Given the description of an element on the screen output the (x, y) to click on. 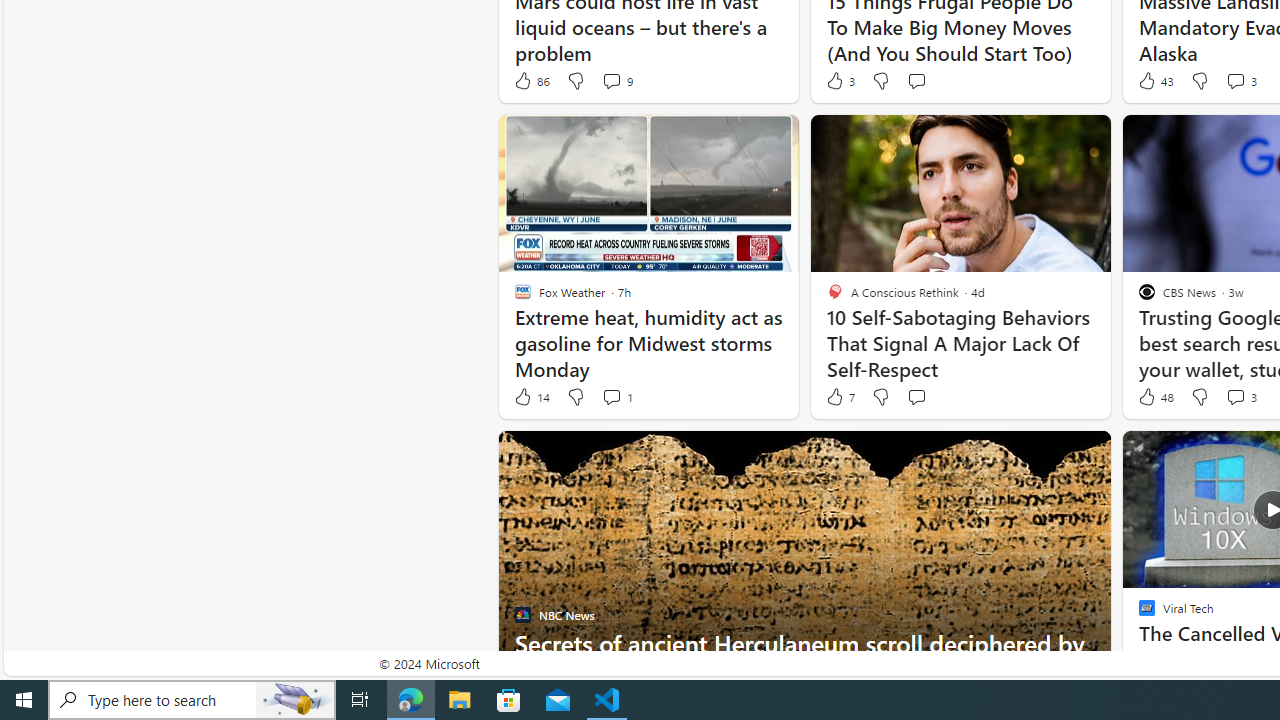
86 Like (531, 80)
View comments 9 Comment (616, 80)
View comments 1 Comment (616, 397)
